Given the description of an element on the screen output the (x, y) to click on. 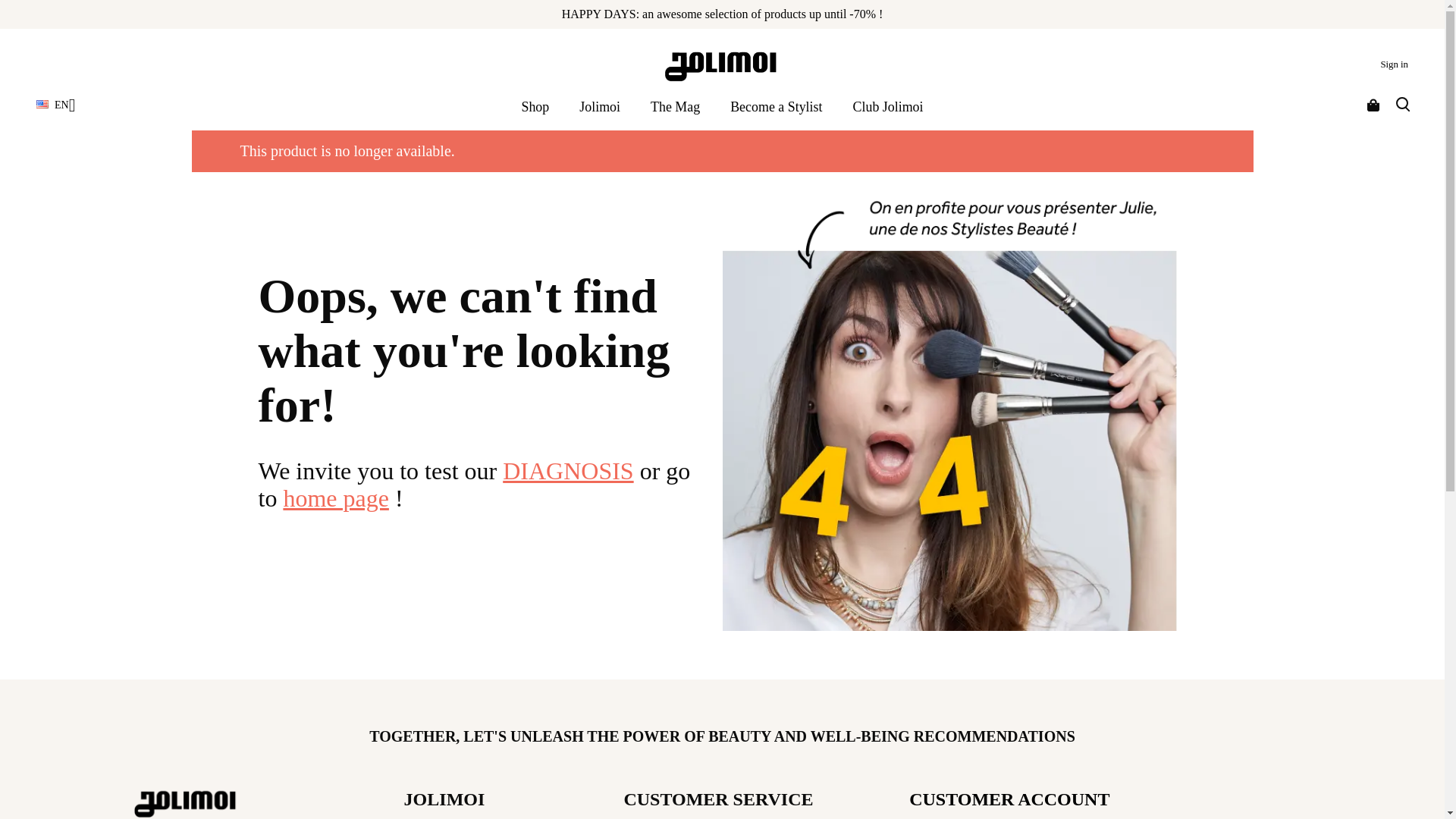
Shop (534, 106)
Log in to your customer account (1393, 64)
